Given the description of an element on the screen output the (x, y) to click on. 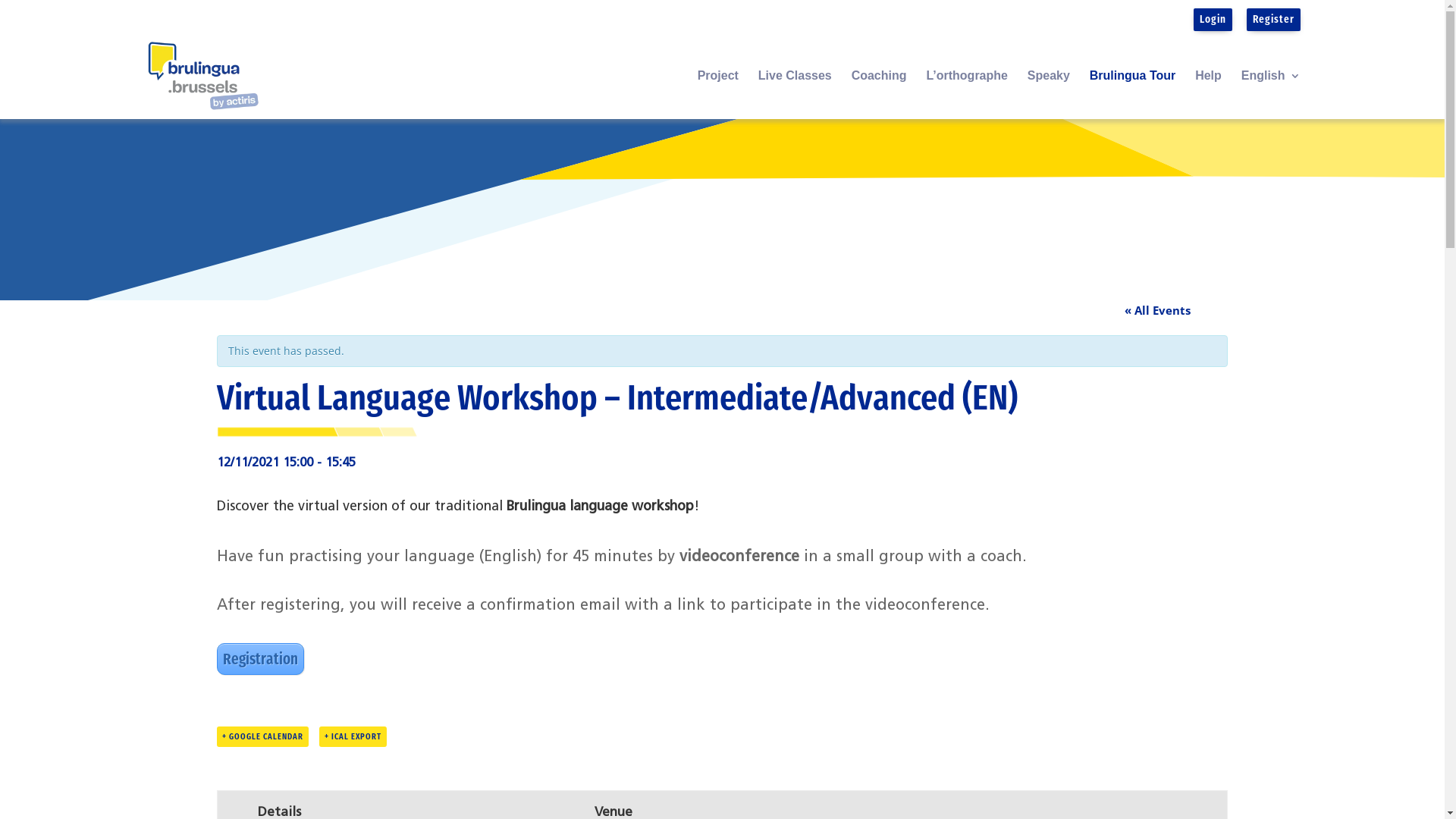
BRULINGUA_SEPARATOR Element type: hover (317, 431)
English Element type: text (1270, 94)
Live Classes Element type: text (794, 94)
+ ICAL EXPORT Element type: text (351, 736)
Coaching Element type: text (878, 94)
Login Element type: text (1212, 18)
Help Element type: text (1208, 94)
Speaky Element type: text (1048, 94)
Project Element type: text (717, 94)
Brulingua Tour Element type: text (1132, 94)
+ GOOGLE CALENDAR Element type: text (262, 736)
Register Element type: text (1273, 18)
Registration Element type: text (260, 658)
